Given the description of an element on the screen output the (x, y) to click on. 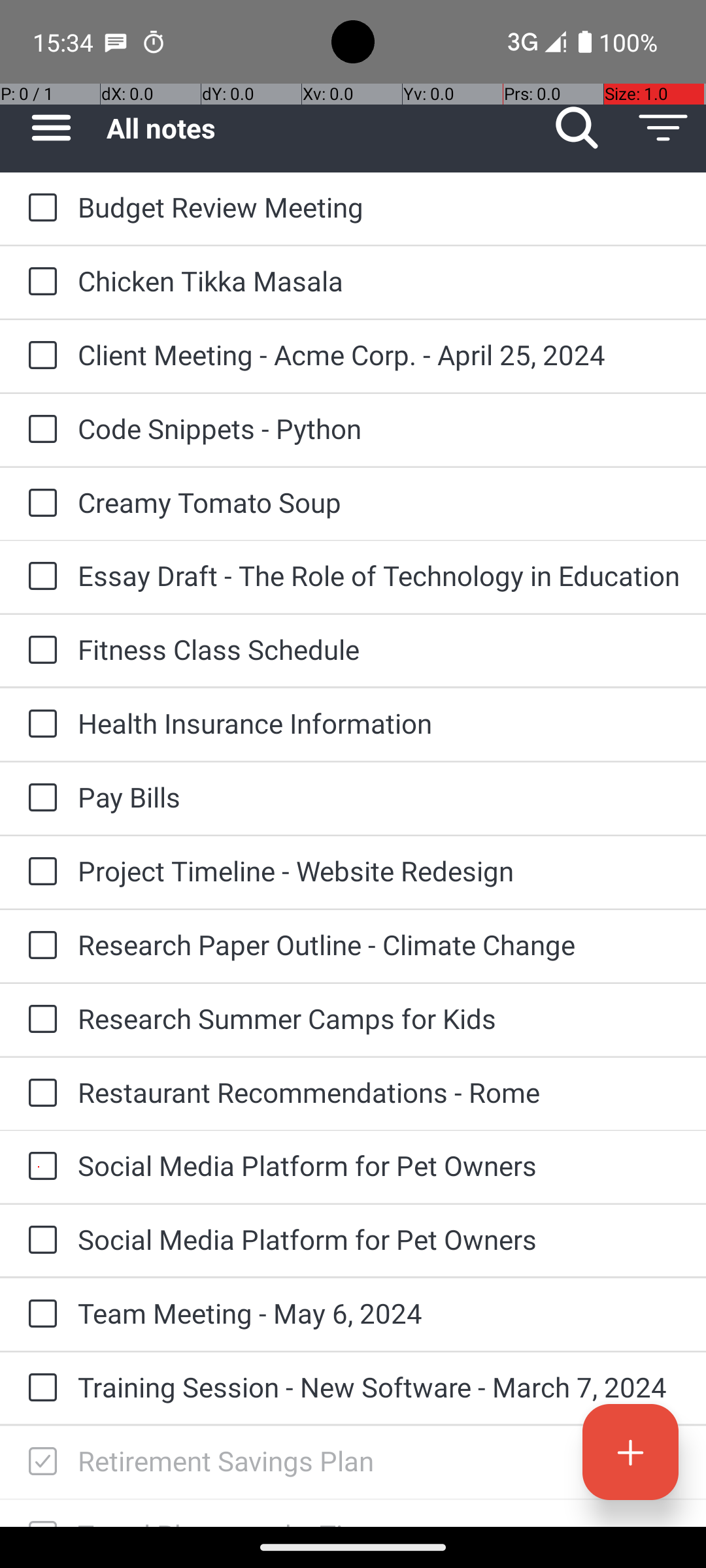
to-do: Budget Review Meeting Element type: android.widget.CheckBox (38, 208)
Budget Review Meeting Element type: android.widget.TextView (378, 206)
to-do: Chicken Tikka Masala Element type: android.widget.CheckBox (38, 282)
Chicken Tikka Masala Element type: android.widget.TextView (378, 280)
to-do: Client Meeting - Acme Corp. - April 25, 2024 Element type: android.widget.CheckBox (38, 356)
Client Meeting - Acme Corp. - April 25, 2024 Element type: android.widget.TextView (378, 354)
to-do: Code Snippets - Python Element type: android.widget.CheckBox (38, 429)
Code Snippets - Python Element type: android.widget.TextView (378, 427)
to-do: Creamy Tomato Soup Element type: android.widget.CheckBox (38, 503)
Creamy Tomato Soup Element type: android.widget.TextView (378, 501)
to-do: Fitness Class Schedule Element type: android.widget.CheckBox (38, 650)
Fitness Class Schedule Element type: android.widget.TextView (378, 648)
to-do: Health Insurance Information Element type: android.widget.CheckBox (38, 724)
Health Insurance Information Element type: android.widget.TextView (378, 722)
to-do: Pay Bills Element type: android.widget.CheckBox (38, 798)
Pay Bills Element type: android.widget.TextView (378, 796)
to-do: Project Timeline - Website Redesign Element type: android.widget.CheckBox (38, 872)
Project Timeline - Website Redesign Element type: android.widget.TextView (378, 870)
to-do: Research Paper Outline - Climate Change Element type: android.widget.CheckBox (38, 945)
Research Paper Outline - Climate Change Element type: android.widget.TextView (378, 944)
to-do: Research Summer Camps for Kids Element type: android.widget.CheckBox (38, 1019)
Research Summer Camps for Kids Element type: android.widget.TextView (378, 1017)
to-do: Restaurant Recommendations - Rome Element type: android.widget.CheckBox (38, 1093)
Restaurant Recommendations - Rome Element type: android.widget.TextView (378, 1091)
to-do: Social Media Platform for Pet Owners Element type: android.widget.CheckBox (38, 1166)
Social Media Platform for Pet Owners Element type: android.widget.TextView (378, 1164)
to-do: Team Meeting - May 6, 2024 Element type: android.widget.CheckBox (38, 1314)
Team Meeting - May 6, 2024 Element type: android.widget.TextView (378, 1312)
to-do: Training Session - New Software - March 7, 2024 Element type: android.widget.CheckBox (38, 1388)
Training Session - New Software - March 7, 2024 Element type: android.widget.TextView (378, 1386)
to-do: Retirement Savings Plan Element type: android.widget.CheckBox (38, 1462)
Retirement Savings Plan Element type: android.widget.TextView (378, 1460)
to-do: Travel Photography Tips Element type: android.widget.CheckBox (38, 1513)
Travel Photography Tips Element type: android.widget.TextView (378, 1520)
 Element type: android.widget.TextView (42, 1462)
